Given the description of an element on the screen output the (x, y) to click on. 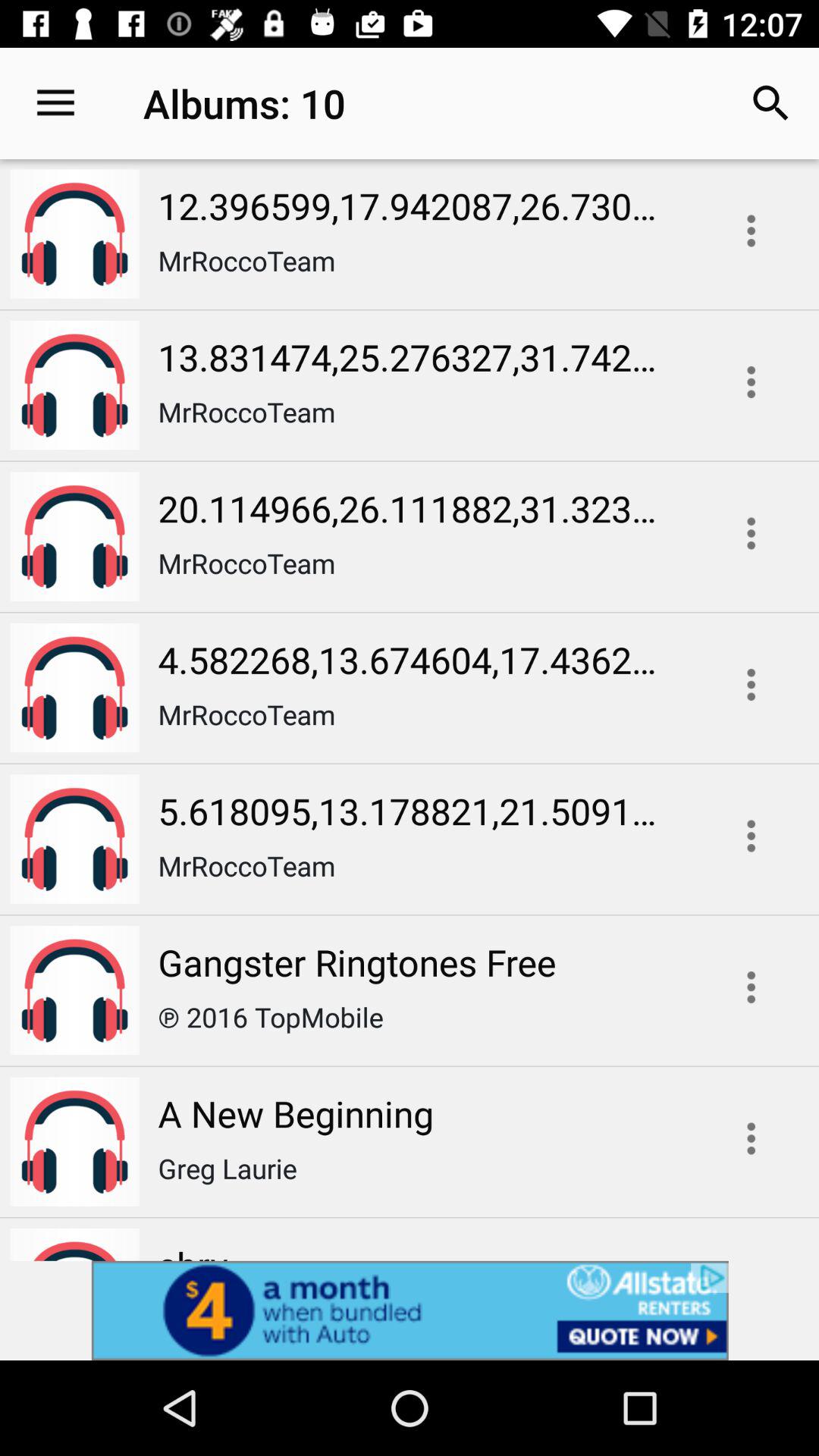
expand information (750, 835)
